Given the description of an element on the screen output the (x, y) to click on. 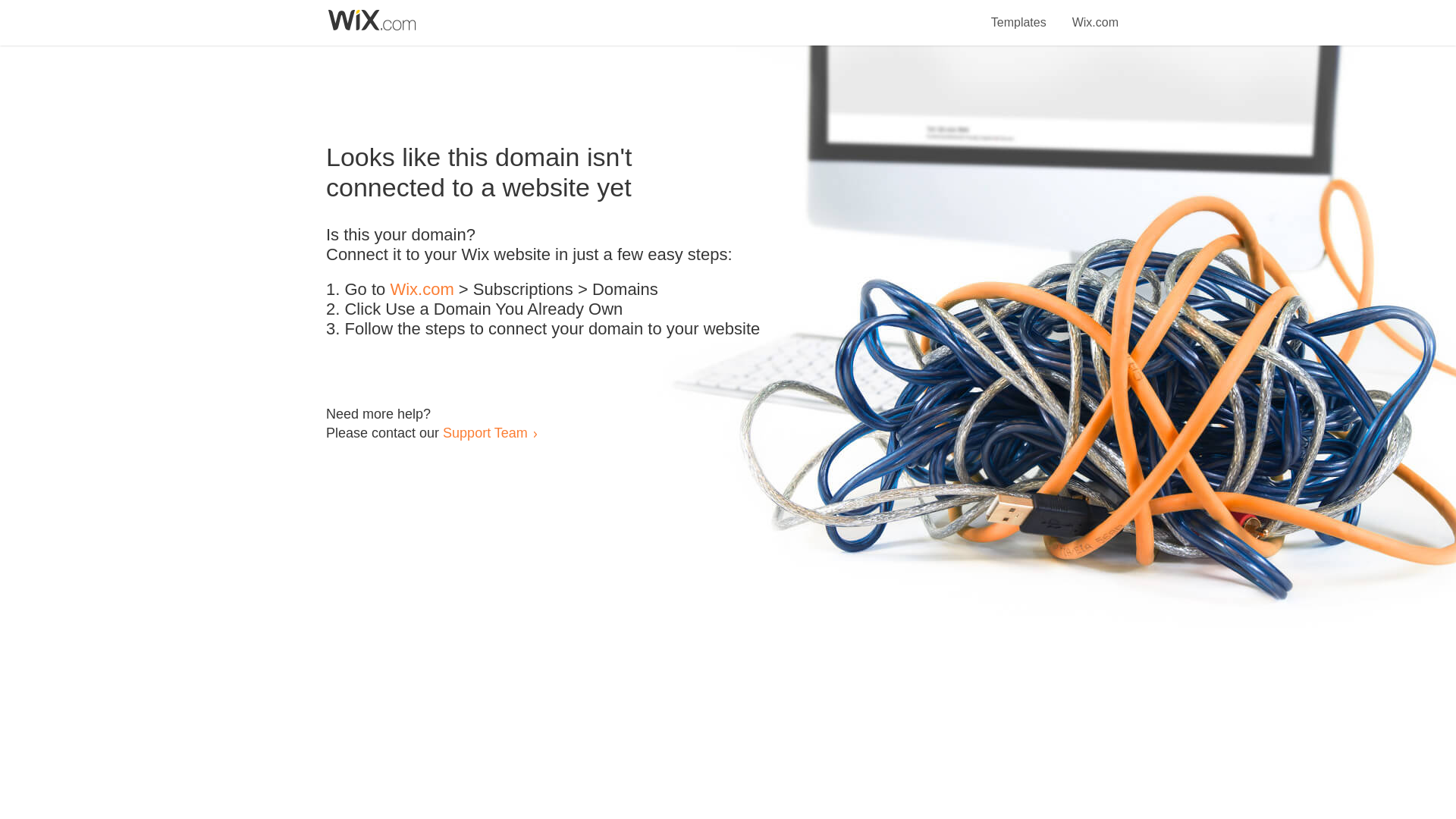
Support Team (484, 432)
Wix.com (1095, 14)
Templates (1018, 14)
Wix.com (421, 289)
